Given the description of an element on the screen output the (x, y) to click on. 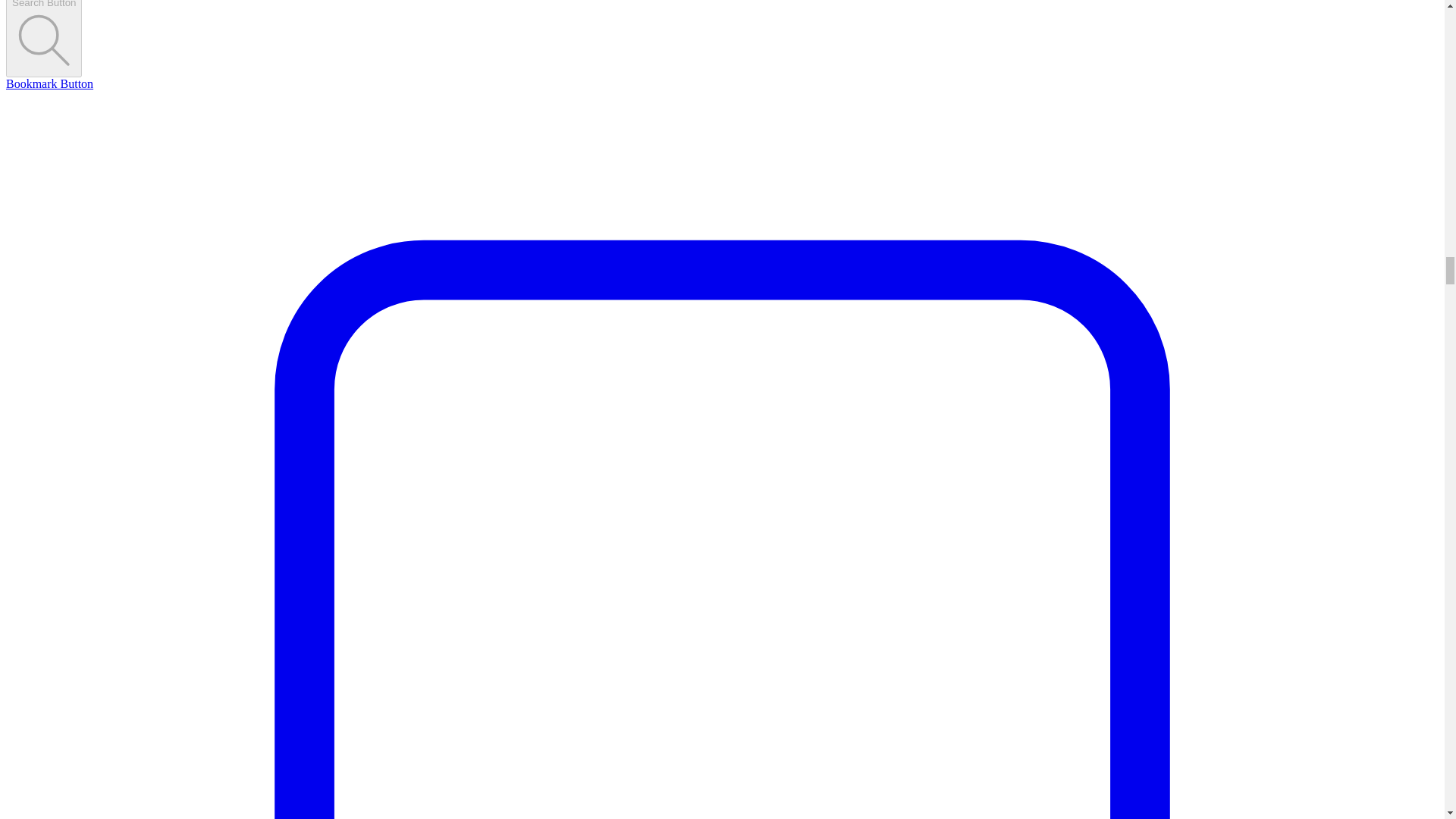
Search Button (43, 38)
